Given the description of an element on the screen output the (x, y) to click on. 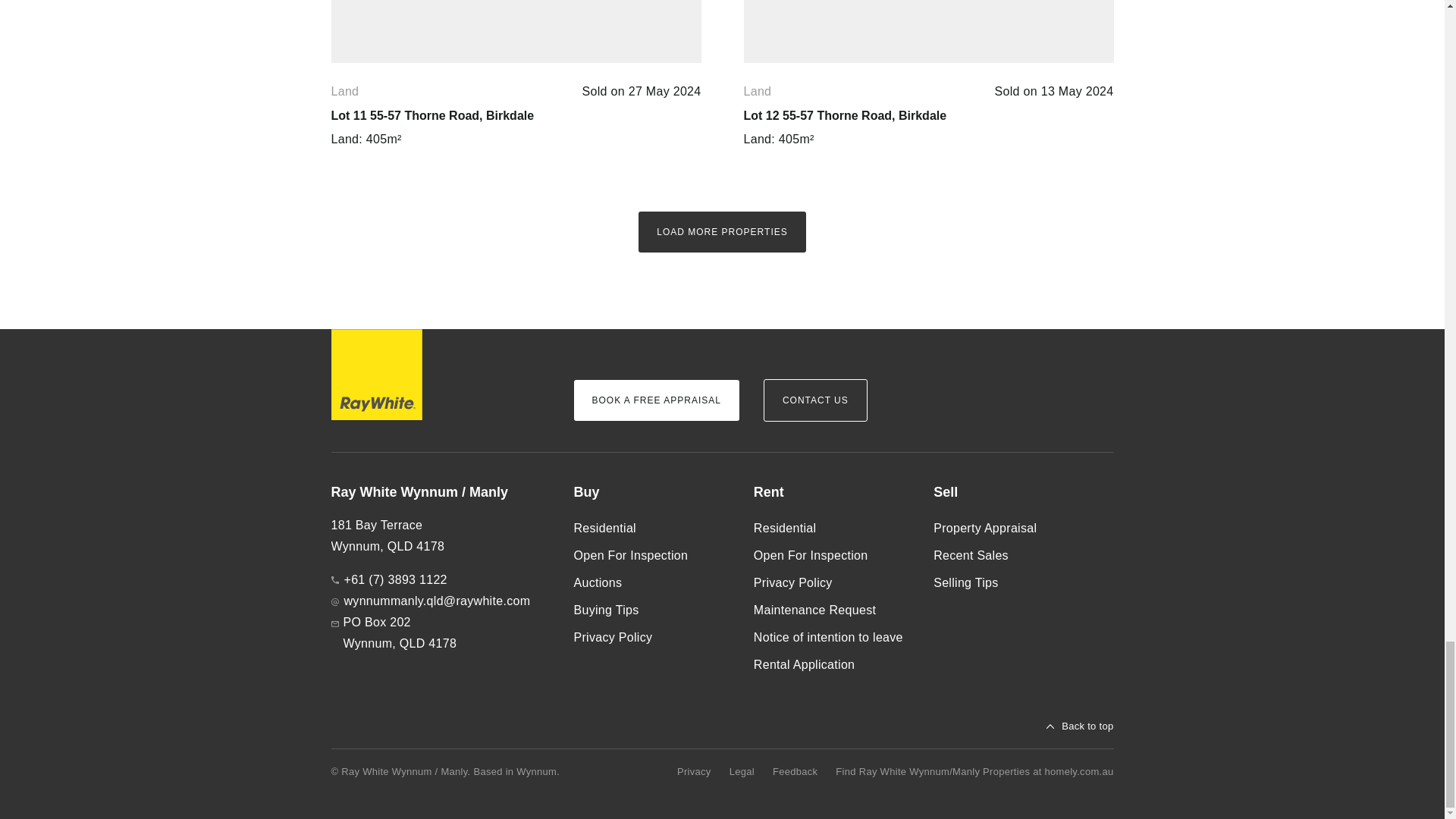
Open For Inspection (651, 555)
Ray White (376, 374)
Lot 11 55-57 Thorne Road, Birkdale (432, 115)
Buy (651, 492)
Lot 12 55-57 Thorne Road, Birkdale (844, 115)
SOLD (927, 31)
BOOK A FREE APPRAISAL (655, 400)
CONTACT US (814, 400)
SOLD (515, 31)
Residential (651, 528)
